Given the description of an element on the screen output the (x, y) to click on. 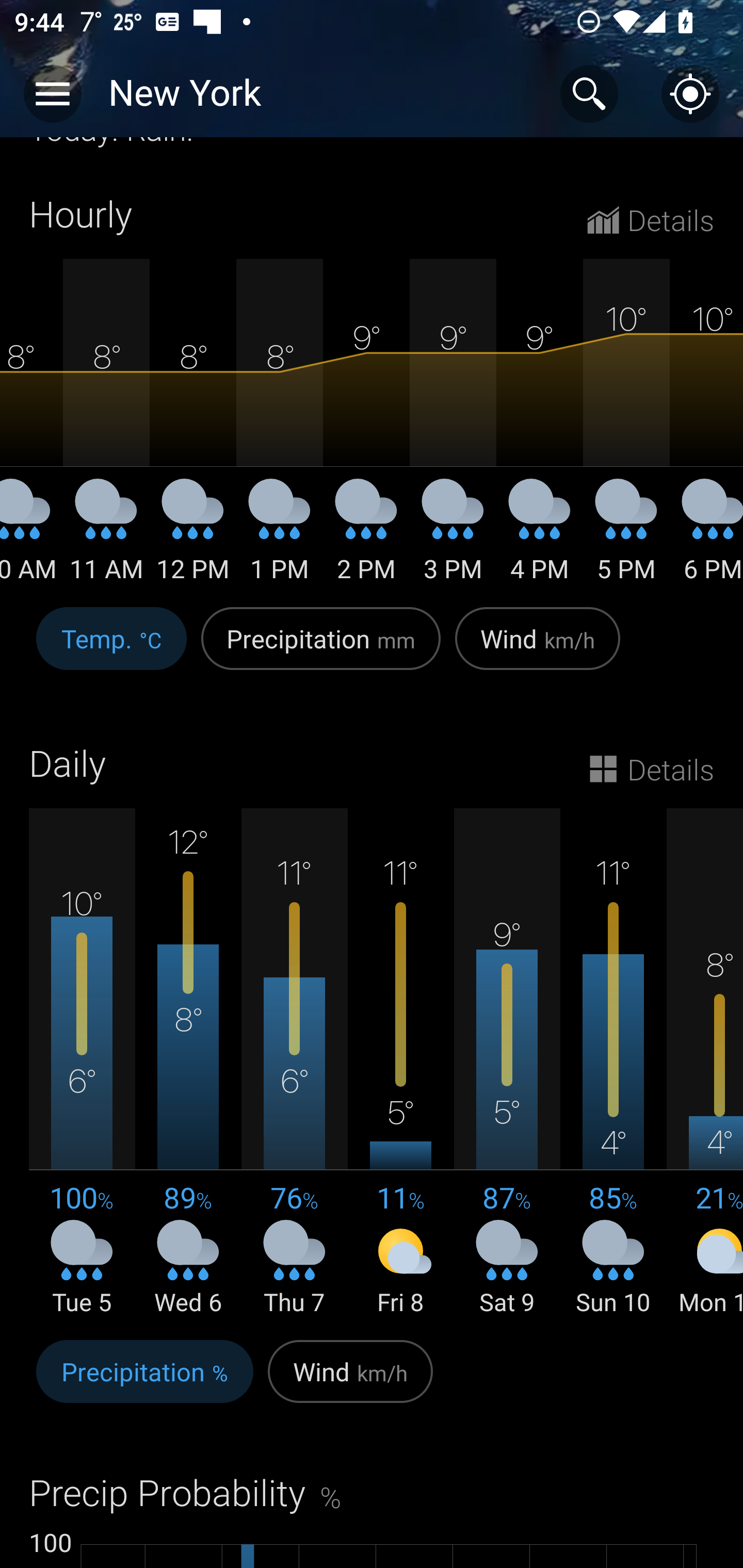
10 AM (31, 537)
11 AM (106, 537)
12 PM (192, 537)
1 PM (279, 537)
2 PM (366, 537)
3 PM (452, 537)
4 PM (539, 537)
5 PM (626, 537)
6 PM (706, 537)
Temp. °C (110, 649)
Precipitation mm (320, 649)
Wind km/h (537, 649)
10° 6° 100 % Tue 5 (81, 1062)
12° 8° 89 % Wed 6 (188, 1062)
11° 6° 76 % Thu 7 (294, 1062)
11° 5° 11 % Fri 8 (400, 1062)
9° 5° 87 % Sat 9 (506, 1062)
11° 4° 85 % Sun 10 (613, 1062)
8° 4° 21 % Mon 11 (704, 1062)
Precipitation % (144, 1381)
Wind km/h (349, 1381)
